Given the description of an element on the screen output the (x, y) to click on. 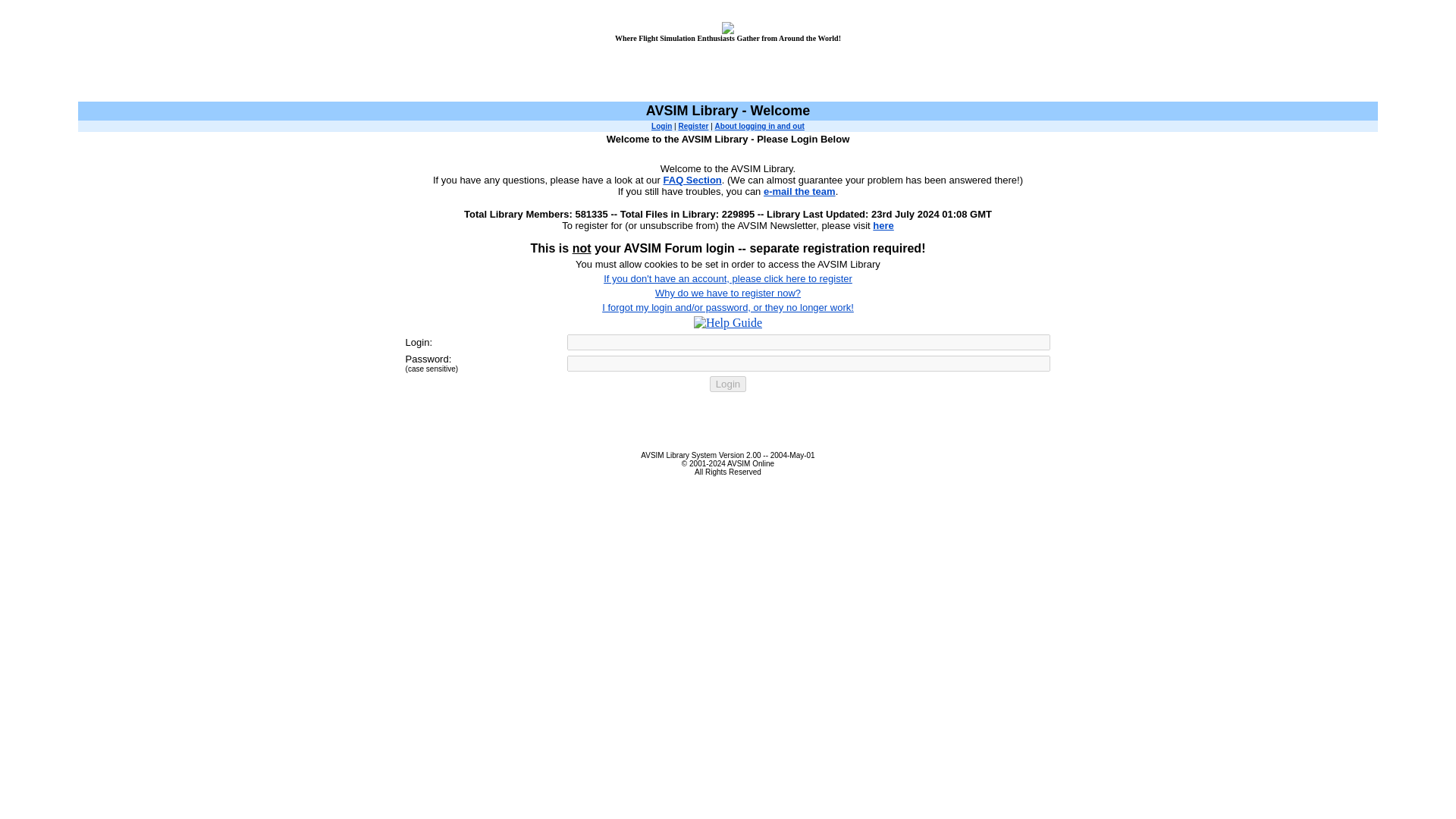
Login (728, 383)
Login (660, 126)
here (882, 225)
Register (692, 126)
e-mail the team (798, 191)
If you don't have an account, please click here to register (727, 277)
FAQ Section (692, 179)
About logging in and out (759, 126)
Why do we have to register now? (727, 291)
Login (728, 383)
